Given the description of an element on the screen output the (x, y) to click on. 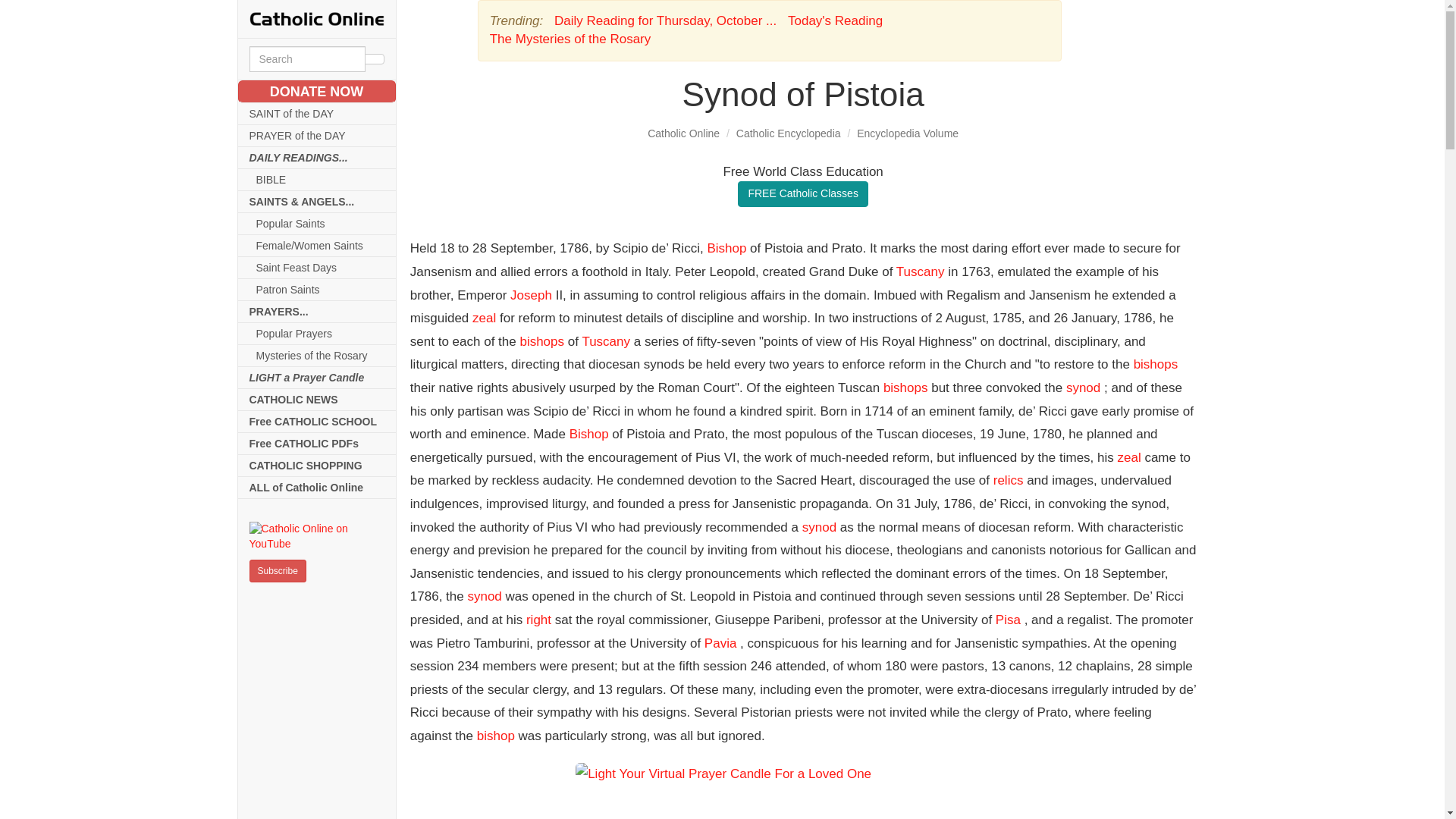
Catholic Online (683, 133)
Today's Reading (834, 20)
Subscribe (276, 570)
Saint Feast Days (317, 268)
LIGHT a Prayer Candle (317, 377)
PRAYER of the DAY (317, 136)
Catholic Online on YouTube (316, 536)
CATHOLIC SHOPPING (317, 465)
ALL of Catholic Online (317, 487)
PRAYERS... (317, 311)
